Given the description of an element on the screen output the (x, y) to click on. 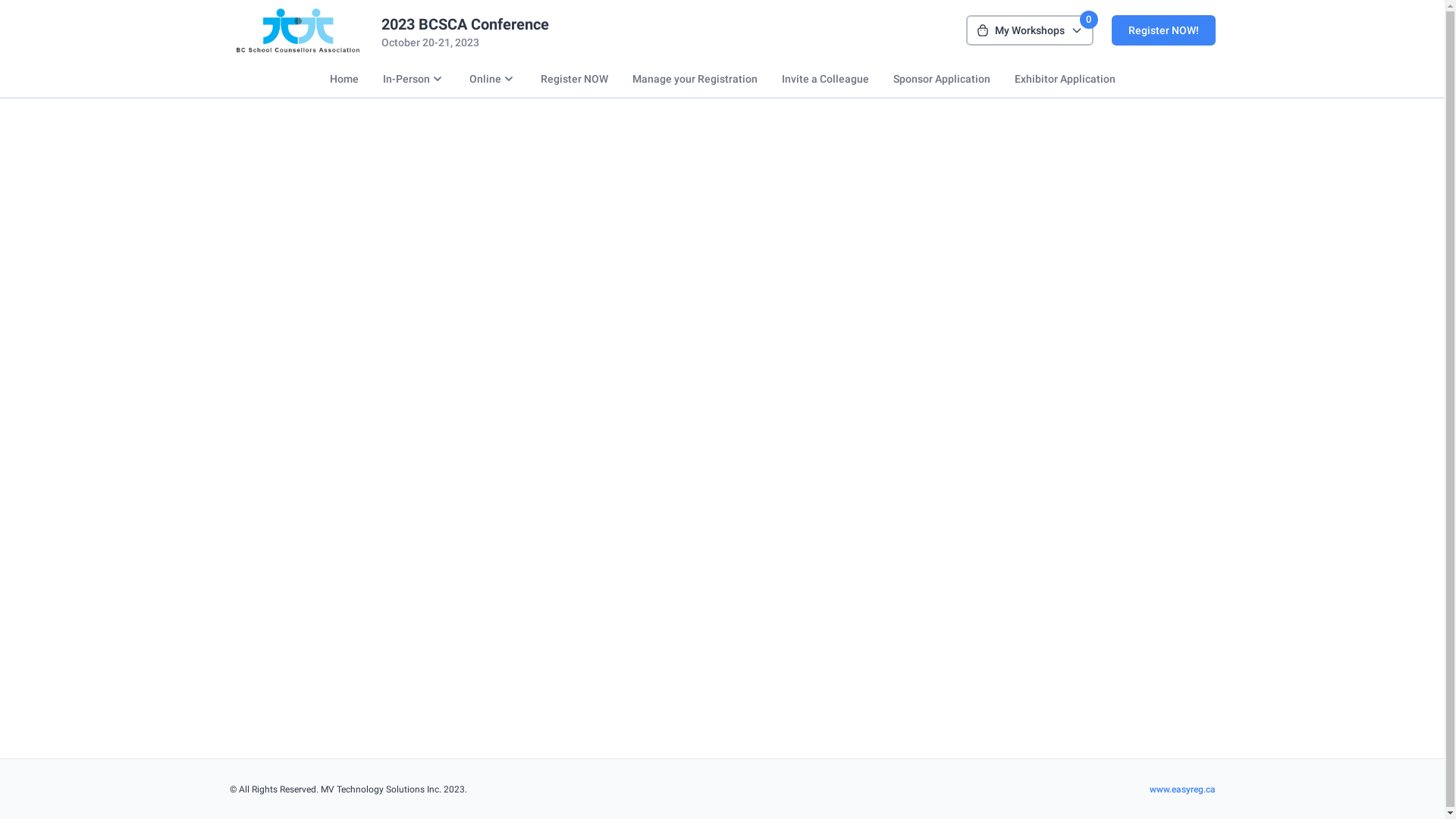
www.easyreg.ca Element type: text (1187, 690)
